Given the description of an element on the screen output the (x, y) to click on. 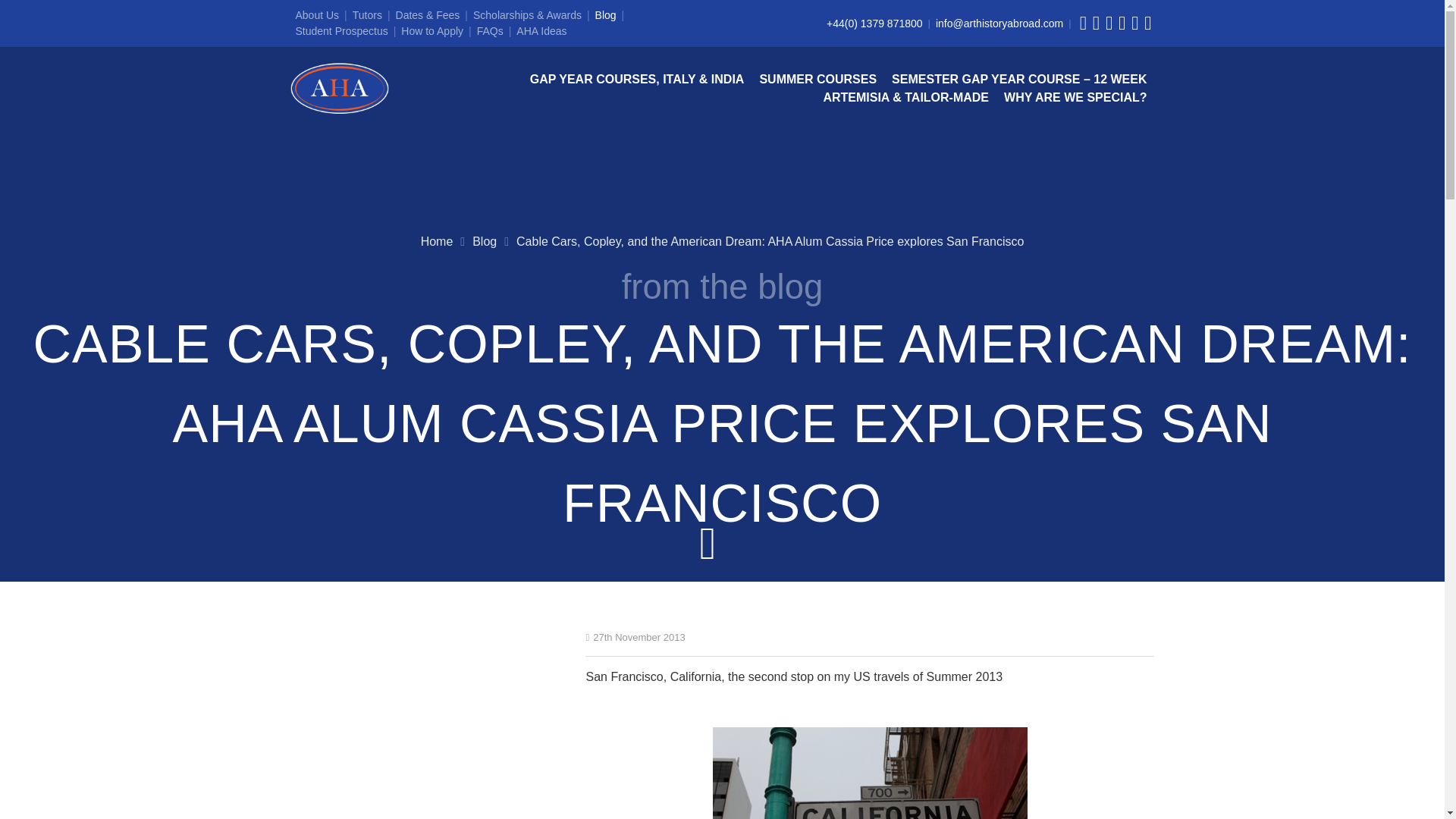
Student Prospectus (341, 30)
Tutors (367, 15)
How to Apply (432, 30)
AHA Ideas (541, 30)
WHY ARE WE SPECIAL? (1075, 96)
About Us (316, 15)
FAQs (489, 30)
Home (436, 241)
Blog (605, 15)
SUMMER COURSES (817, 78)
